Given the description of an element on the screen output the (x, y) to click on. 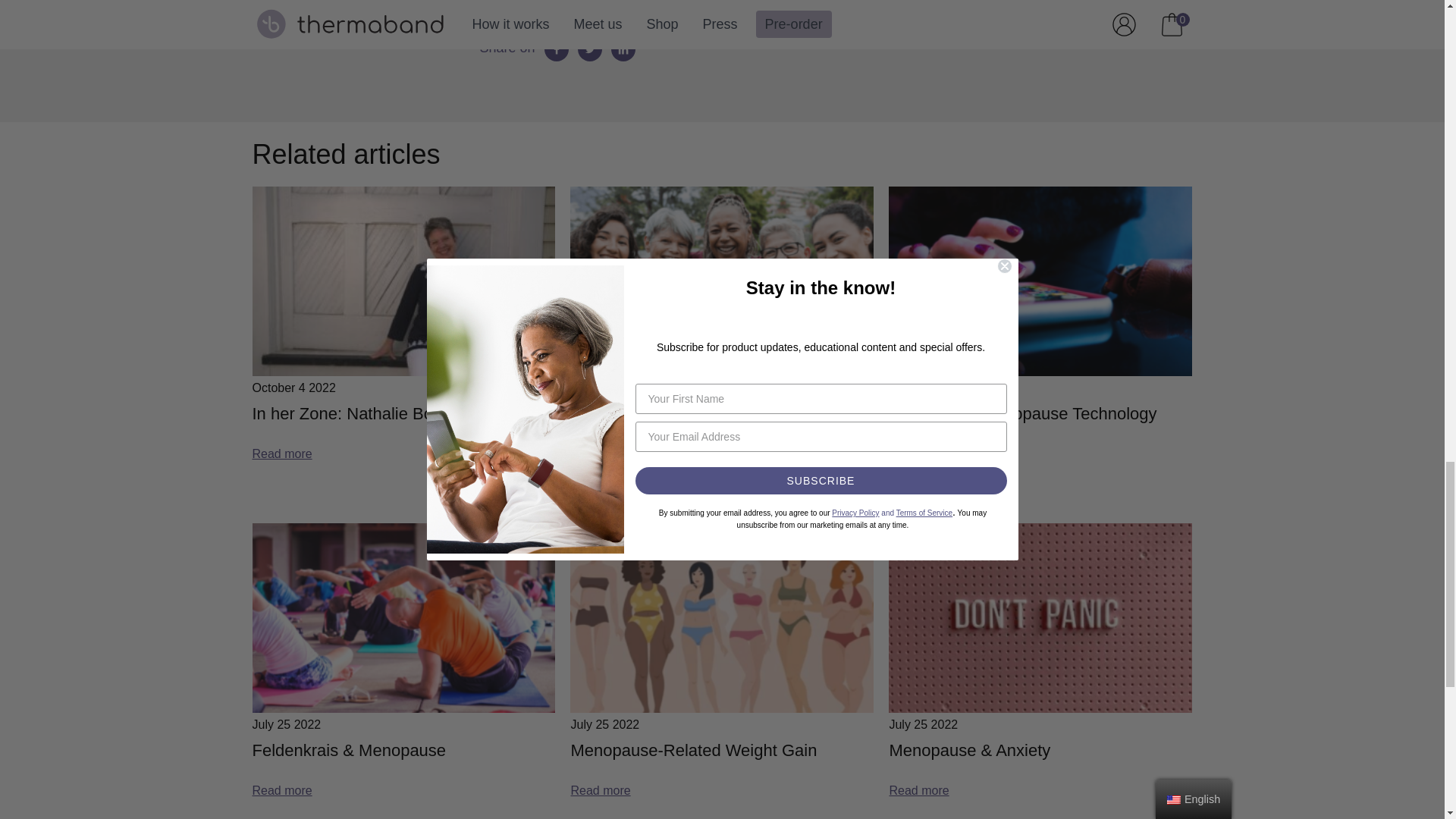
Menopause-Related Weight Gain (693, 750)
Read more (281, 790)
Twitter share (590, 48)
Read more (600, 790)
Disrupting the Menopausal Space with Femtech (721, 426)
Evolution of Menopause Technology (1022, 413)
LinkedIn share (622, 48)
Read more (918, 790)
Read more (281, 454)
Pre-order (721, 2)
Read more (600, 480)
In her Zone: Nathalie Bonafe (357, 413)
Read more (918, 454)
Facebook share (556, 48)
